Given the description of an element on the screen output the (x, y) to click on. 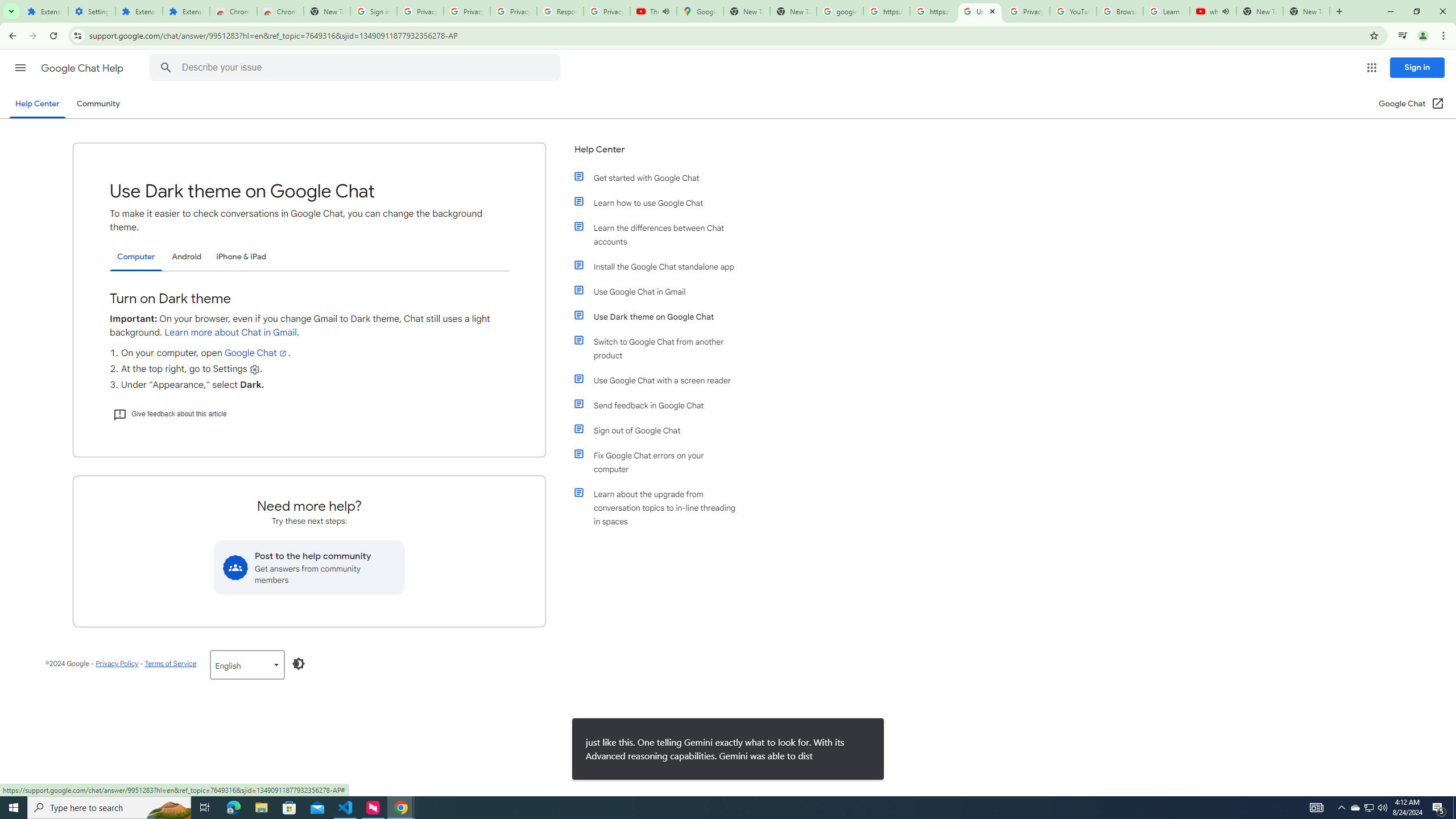
Extensions (138, 11)
Learn the differences between Chat accounts (661, 234)
Learn more about Chat in Gmail (230, 332)
Use Google Chat in Gmail (661, 291)
Google Chat (Open in a new window) (1410, 103)
Help Center (656, 153)
Settings (91, 11)
Enable Dark Mode (299, 663)
Sign in - Google Accounts (373, 11)
New Tab (326, 11)
Use Dark theme on Google Chat - Computer - Google Chat Help (980, 11)
